Given the description of an element on the screen output the (x, y) to click on. 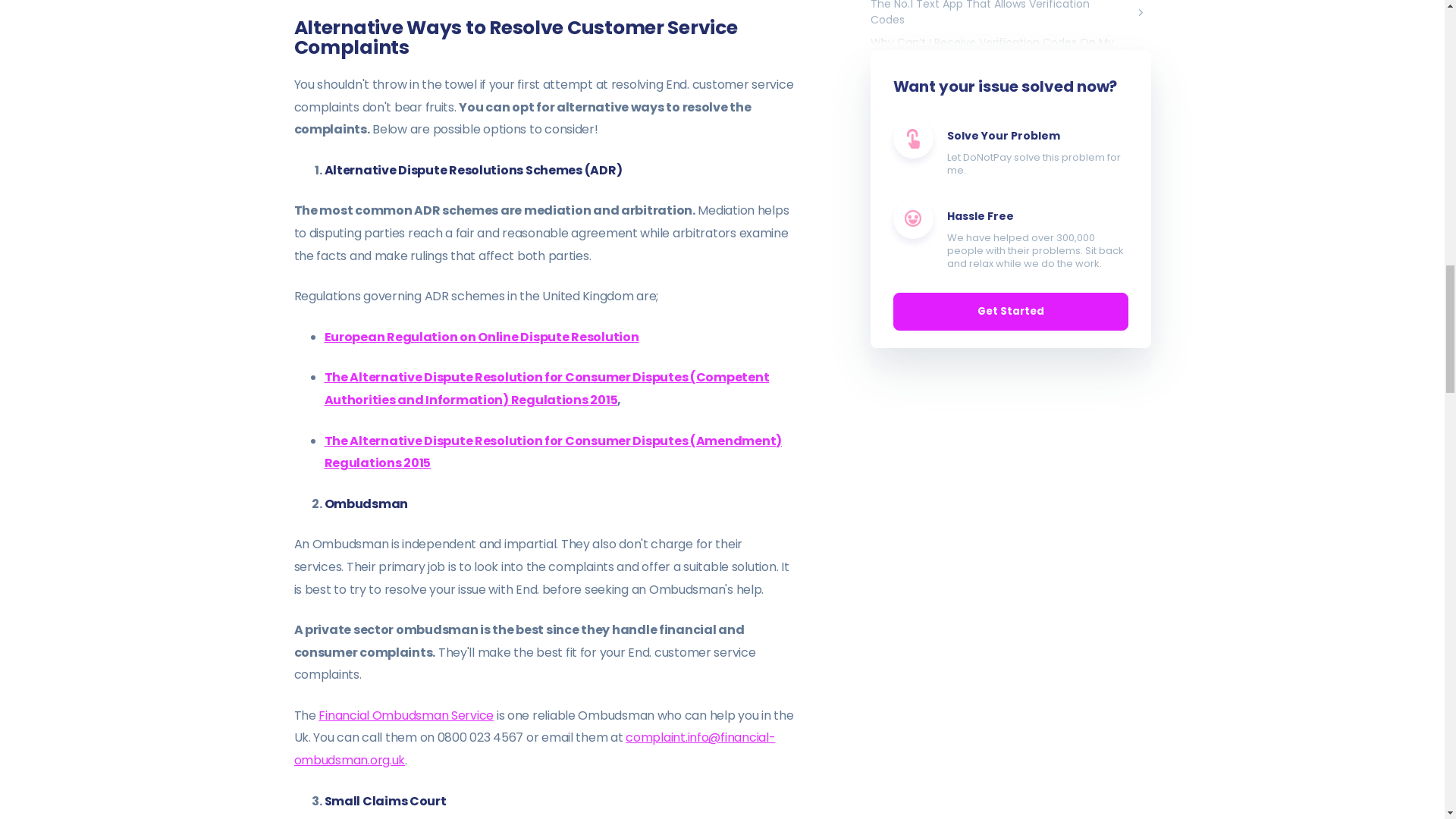
European Regulation on Online Dispute Resolution (481, 336)
Financial Ombudsman Service (405, 714)
